Given the description of an element on the screen output the (x, y) to click on. 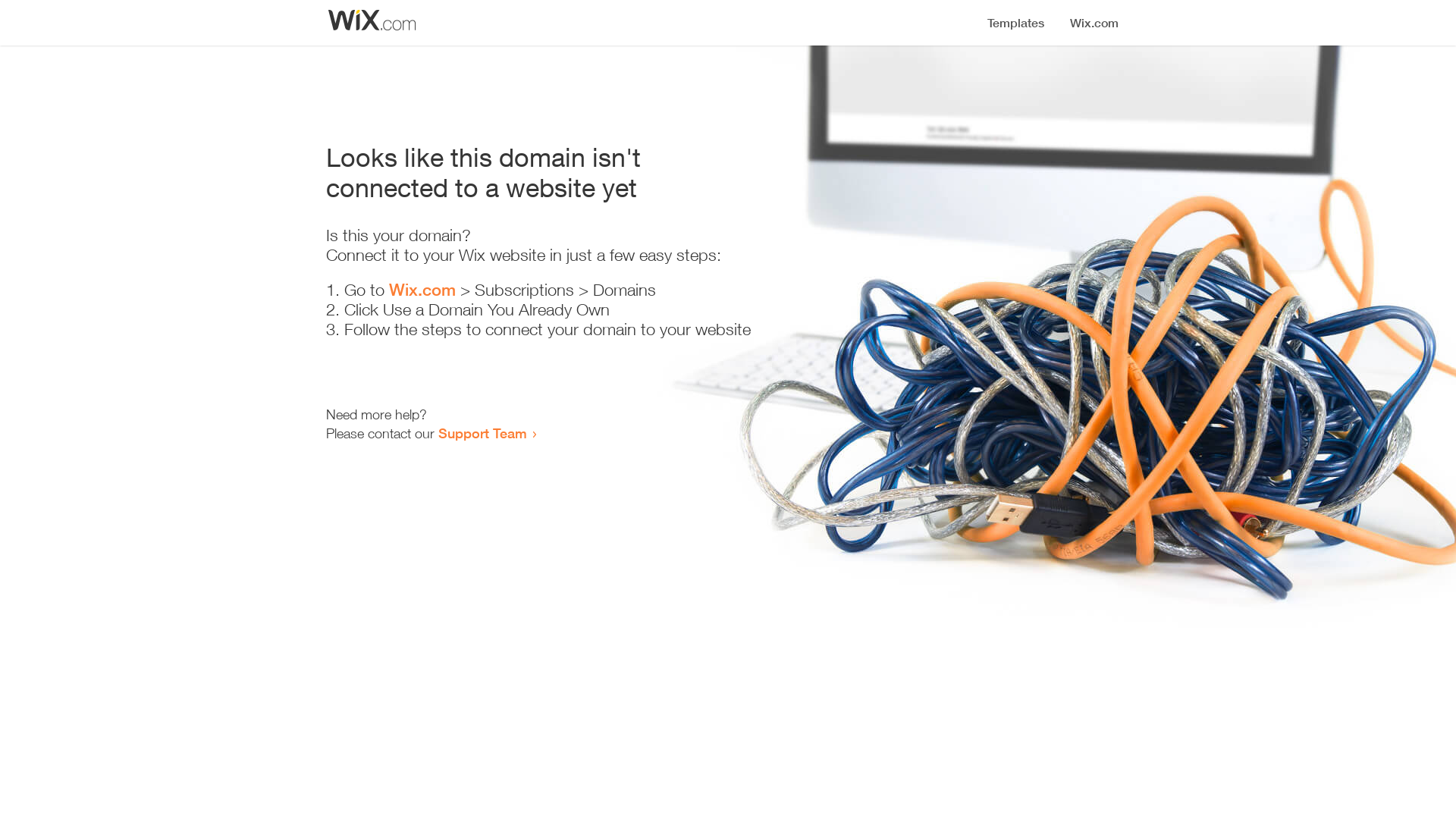
Support Team Element type: text (482, 432)
Wix.com Element type: text (422, 289)
